Given the description of an element on the screen output the (x, y) to click on. 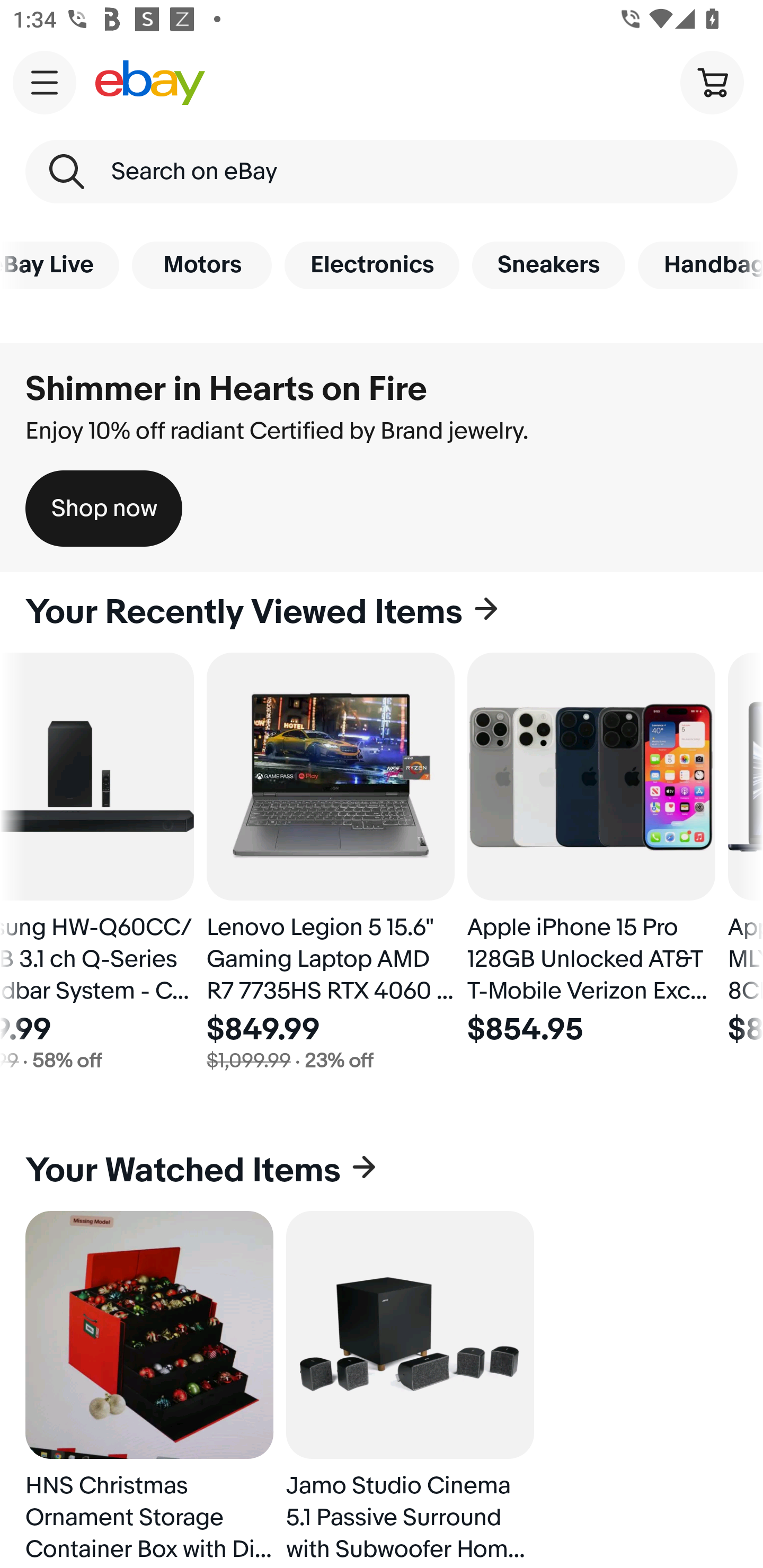
Main navigation, open (44, 82)
Cart button shopping cart (711, 81)
Search on eBay Search Keyword Search on eBay (381, 171)
eBay Live (59, 264)
Motors (201, 264)
Electronics (371, 264)
Sneakers (548, 264)
Handbags (700, 264)
Shimmer in Hearts on Fire (226, 389)
Shop now (103, 508)
Your Recently Viewed Items   (381, 612)
Your Watched Items   (381, 1170)
